Given the description of an element on the screen output the (x, y) to click on. 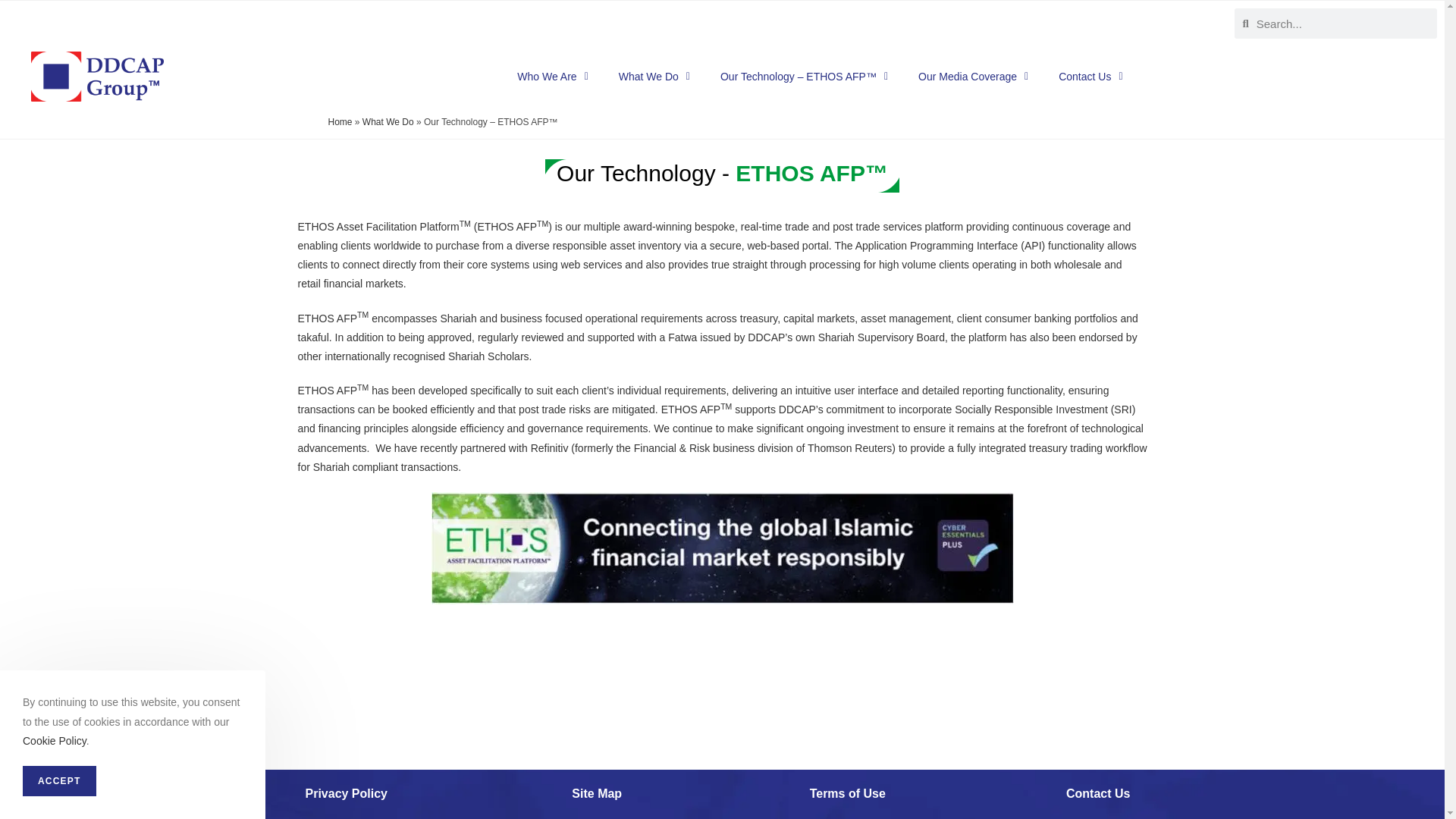
Contact Us (1090, 76)
What We Do (654, 76)
Our Media Coverage (972, 76)
Who We Are (552, 76)
